Given the description of an element on the screen output the (x, y) to click on. 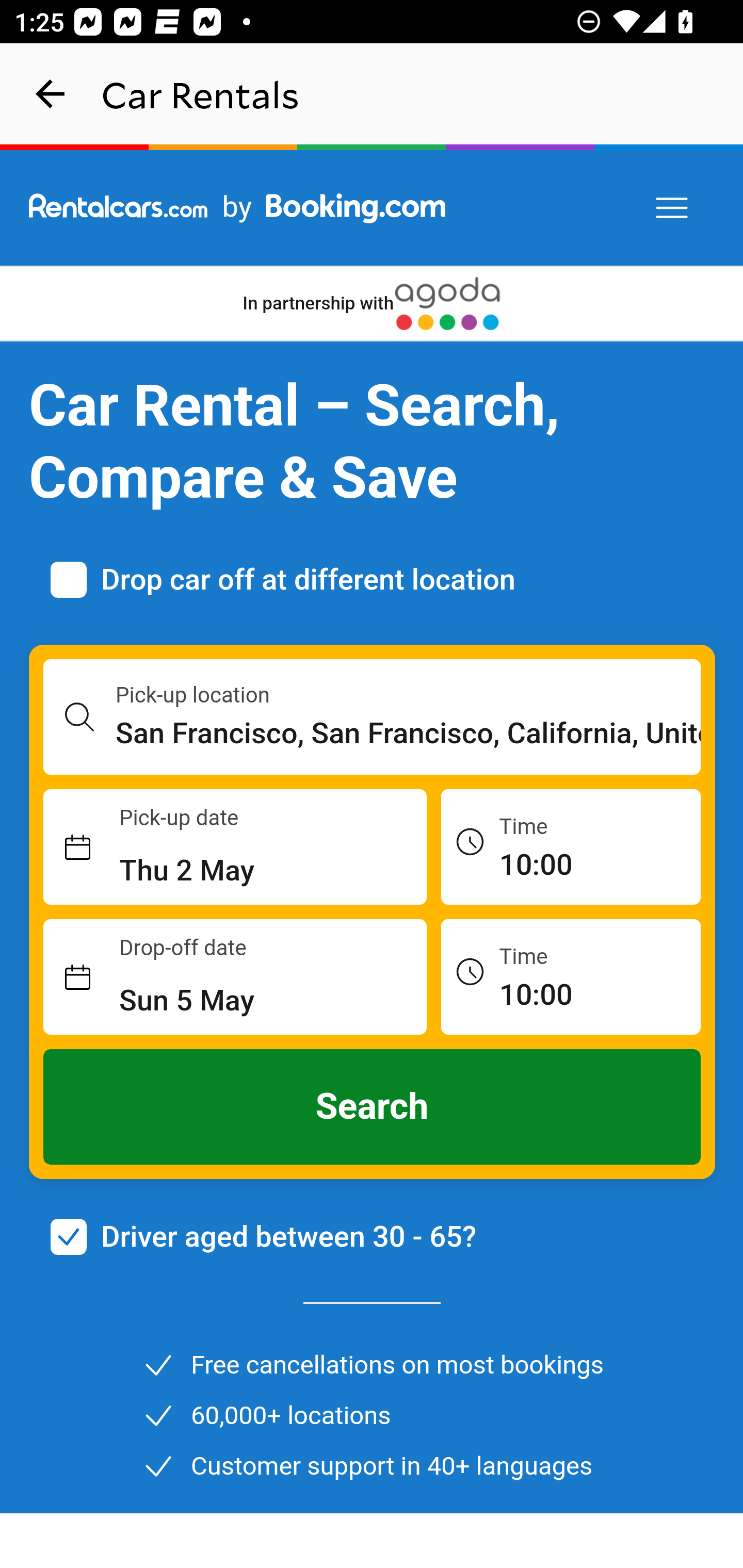
navigation_button (50, 93)
Menu (672, 208)
Pick-up date Thu 2 May (235, 847)
10:00 (571, 845)
Drop-off date Sun 5 May (235, 977)
10:00 (571, 975)
Search (372, 1106)
